Given the description of an element on the screen output the (x, y) to click on. 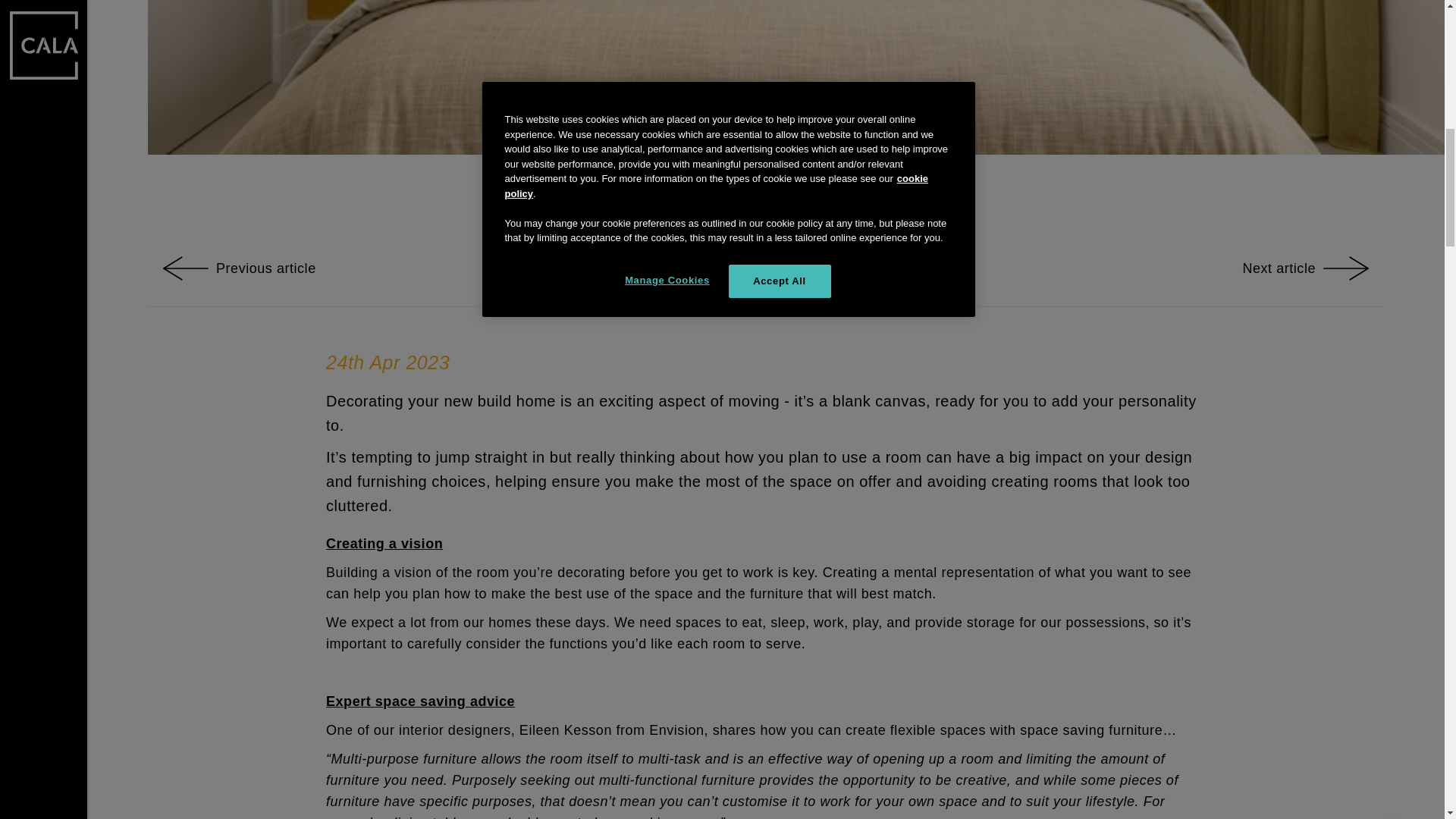
Share to Facebook (702, 268)
Next article (1304, 268)
Share to Pinterest (828, 268)
Previous article (239, 268)
Share to Twitter X (744, 268)
Share to LinkedIn (786, 268)
